Given the description of an element on the screen output the (x, y) to click on. 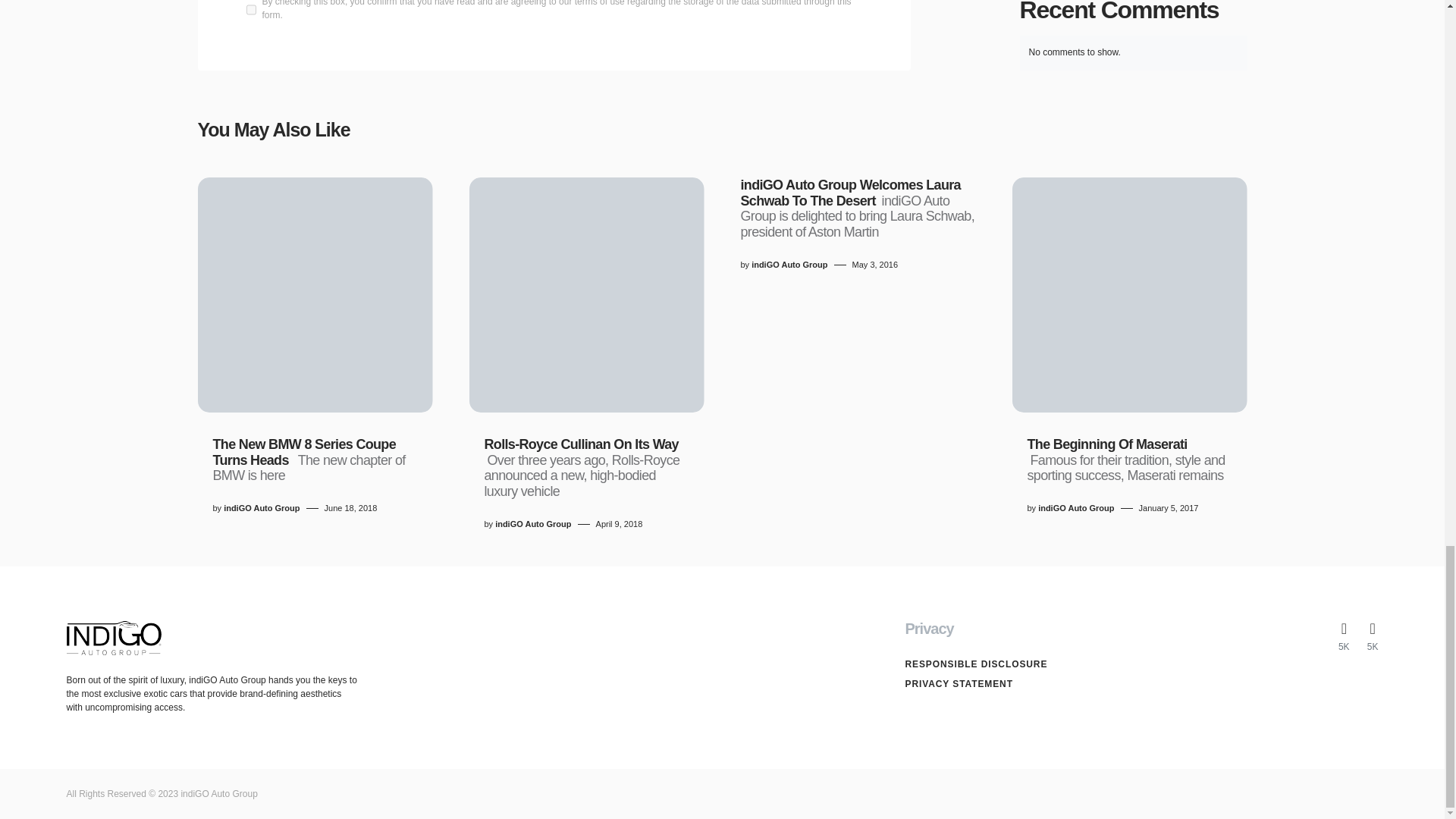
View all posts by indiGO Auto Group (532, 523)
View all posts by indiGO Auto Group (1075, 508)
View all posts by indiGO Auto Group (789, 264)
View all posts by indiGO Auto Group (261, 508)
on (251, 11)
